Given the description of an element on the screen output the (x, y) to click on. 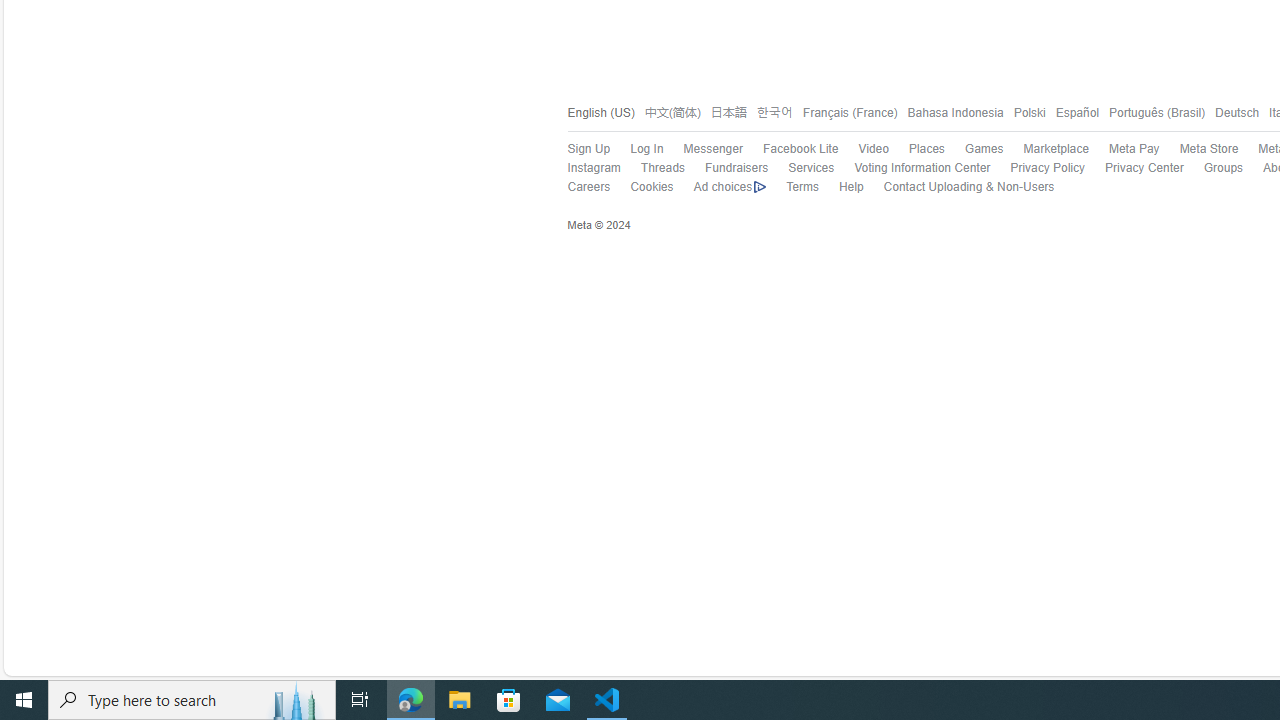
Services (811, 168)
Terms (802, 187)
English (US) (600, 112)
Ad choices (729, 187)
Marketplace (1055, 148)
Facebook Lite (799, 148)
Places (925, 148)
Privacy Policy (1037, 169)
Ad choices (719, 187)
Careers (588, 187)
Fundraisers (726, 169)
Instagram (583, 169)
Polski (1028, 112)
